Given the description of an element on the screen output the (x, y) to click on. 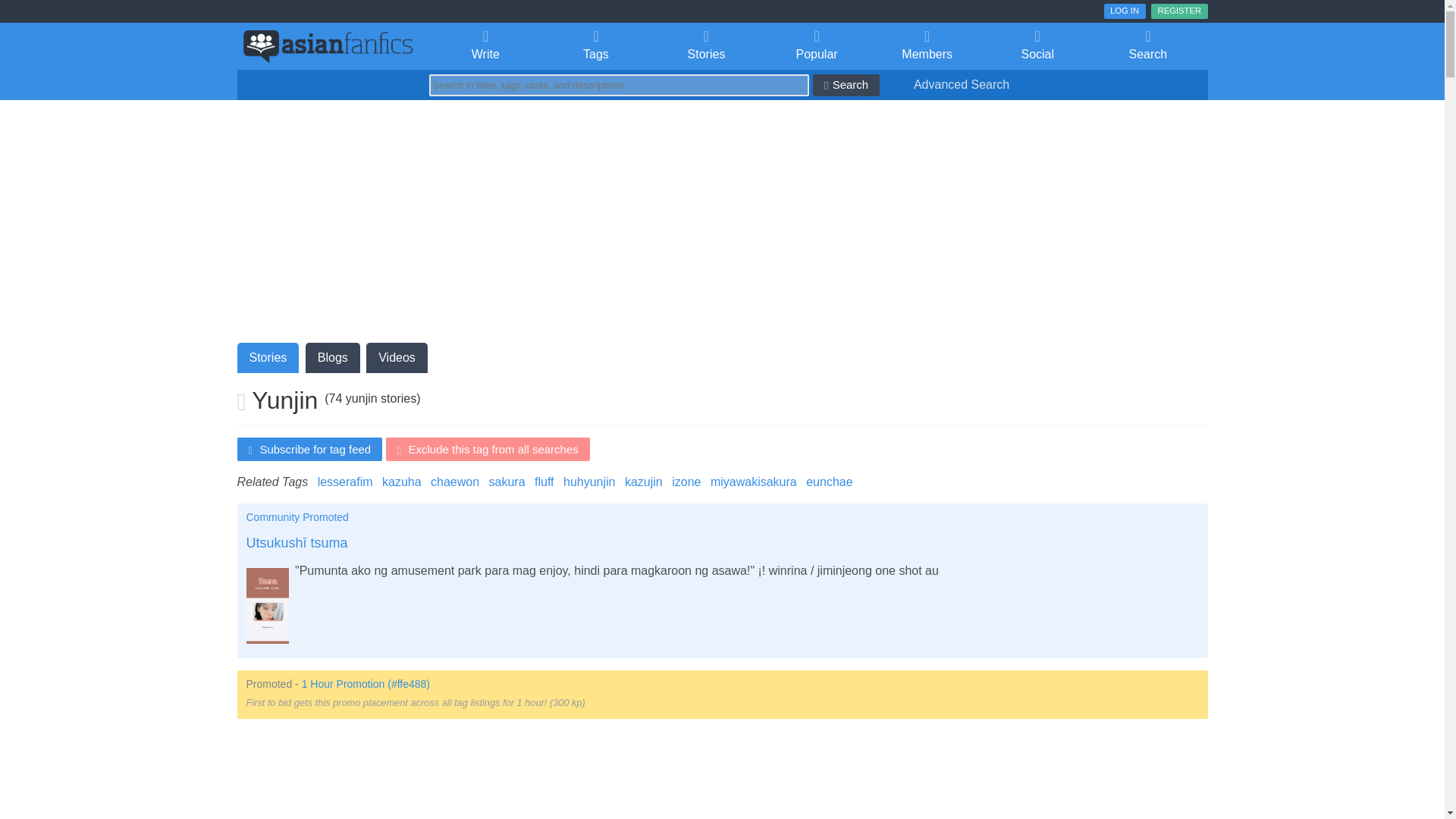
Write (485, 45)
REGISTER (1179, 10)
Social (1037, 45)
Stories (705, 45)
Members (927, 45)
Tags (595, 45)
Advertisement (721, 775)
LOG IN (1124, 10)
Popular (816, 45)
Search (1148, 45)
